Given the description of an element on the screen output the (x, y) to click on. 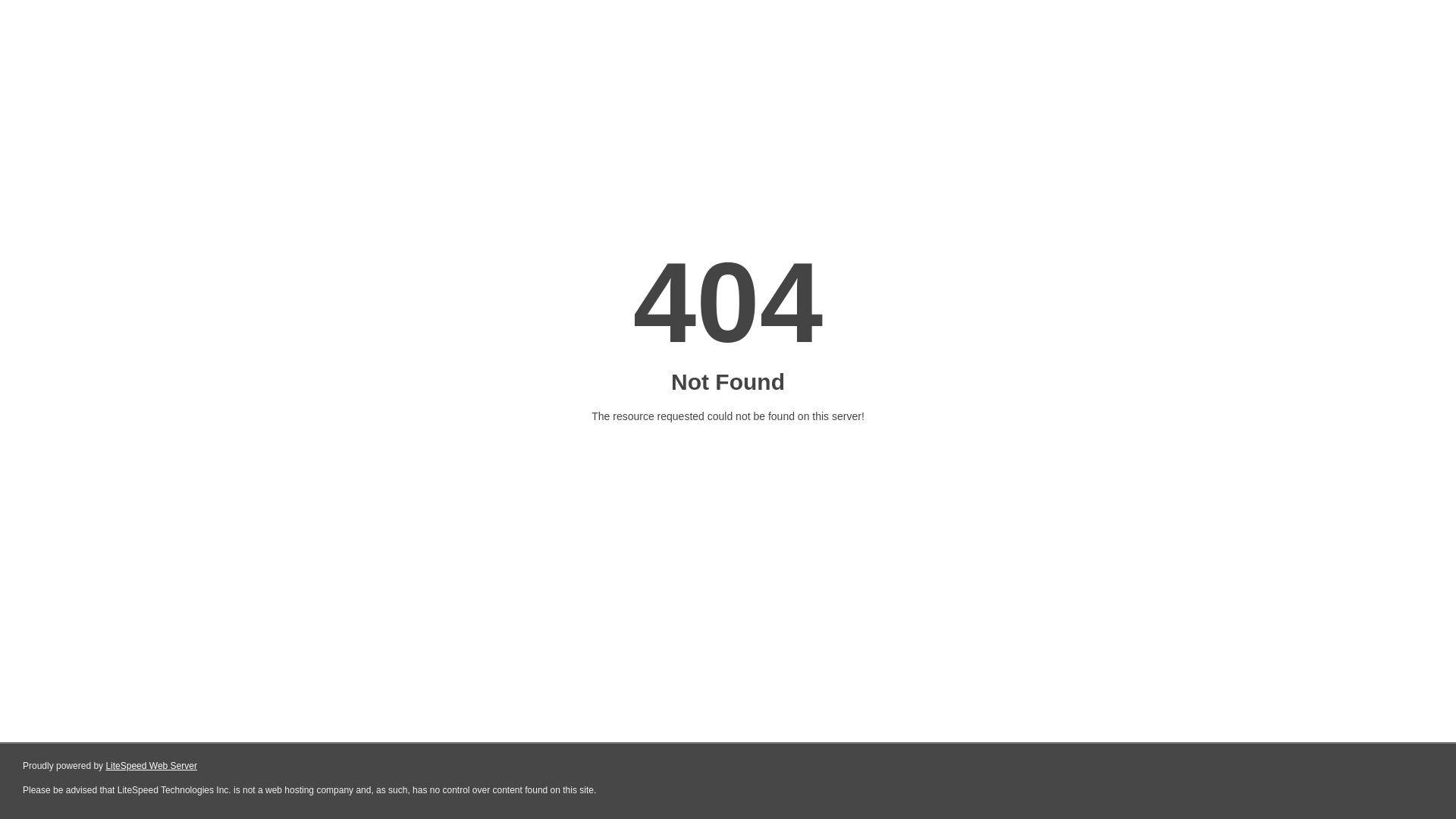
LiteSpeed Web Server Element type: text (151, 765)
